Given the description of an element on the screen output the (x, y) to click on. 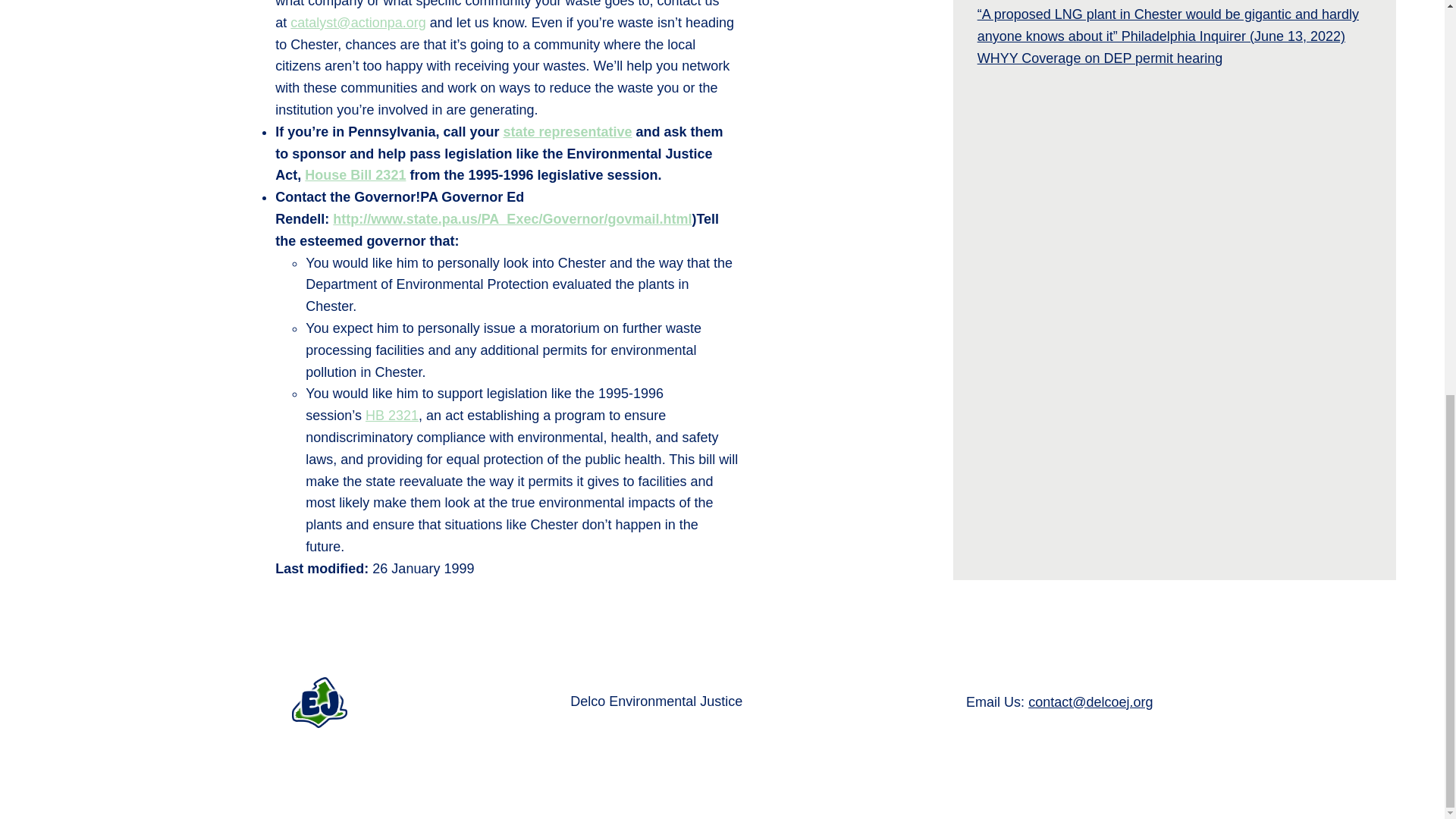
HB 2321 (392, 415)
House Bill 2321 (355, 174)
state representative (566, 131)
